Given the description of an element on the screen output the (x, y) to click on. 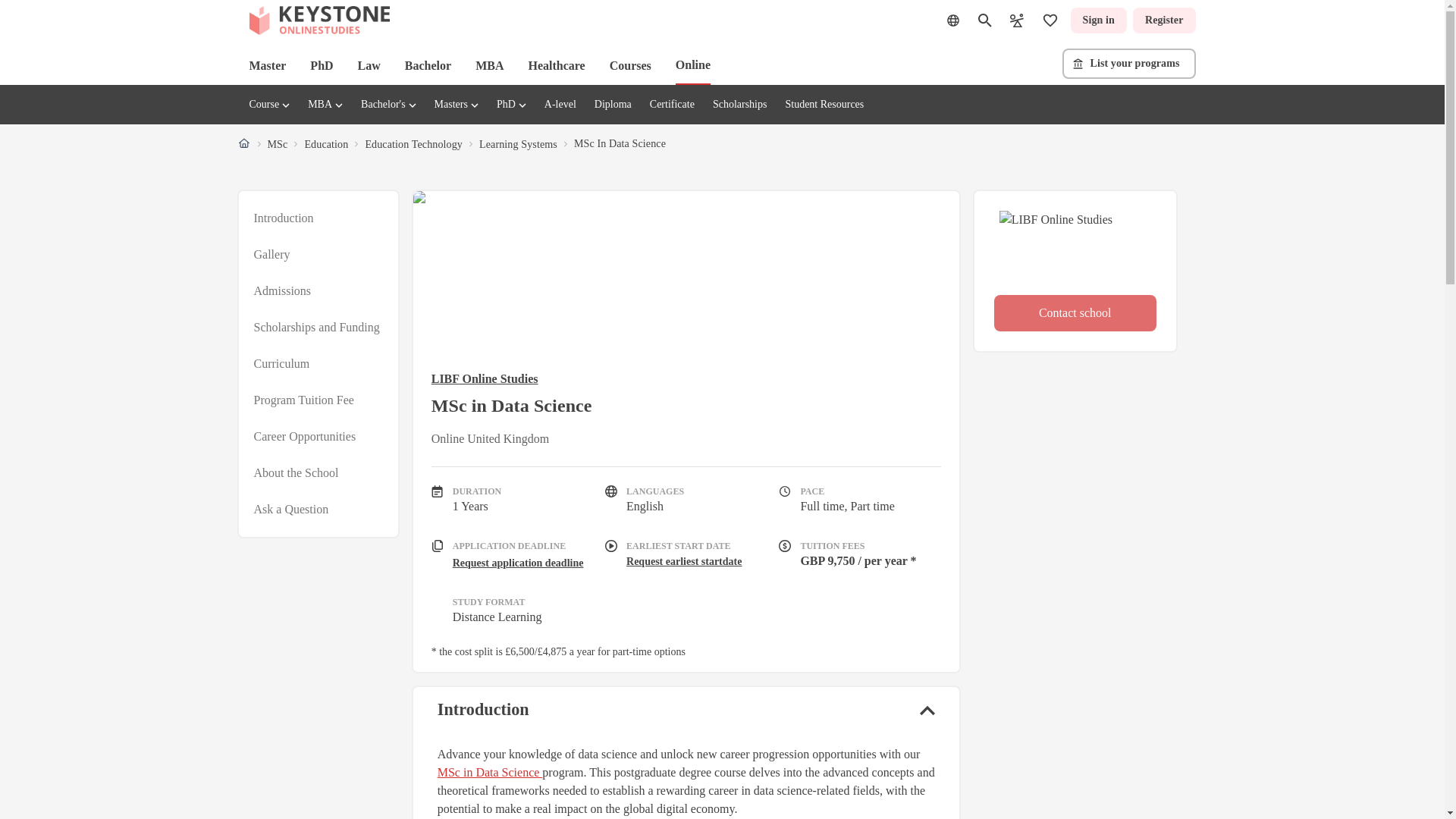
Scholarships and Funding (315, 327)
Education Technology (414, 144)
Diploma (612, 103)
MSc (276, 144)
A-level (560, 103)
Gallery (271, 254)
Introduction (283, 218)
Ask a Question (291, 509)
Student Resources (823, 103)
